Given the description of an element on the screen output the (x, y) to click on. 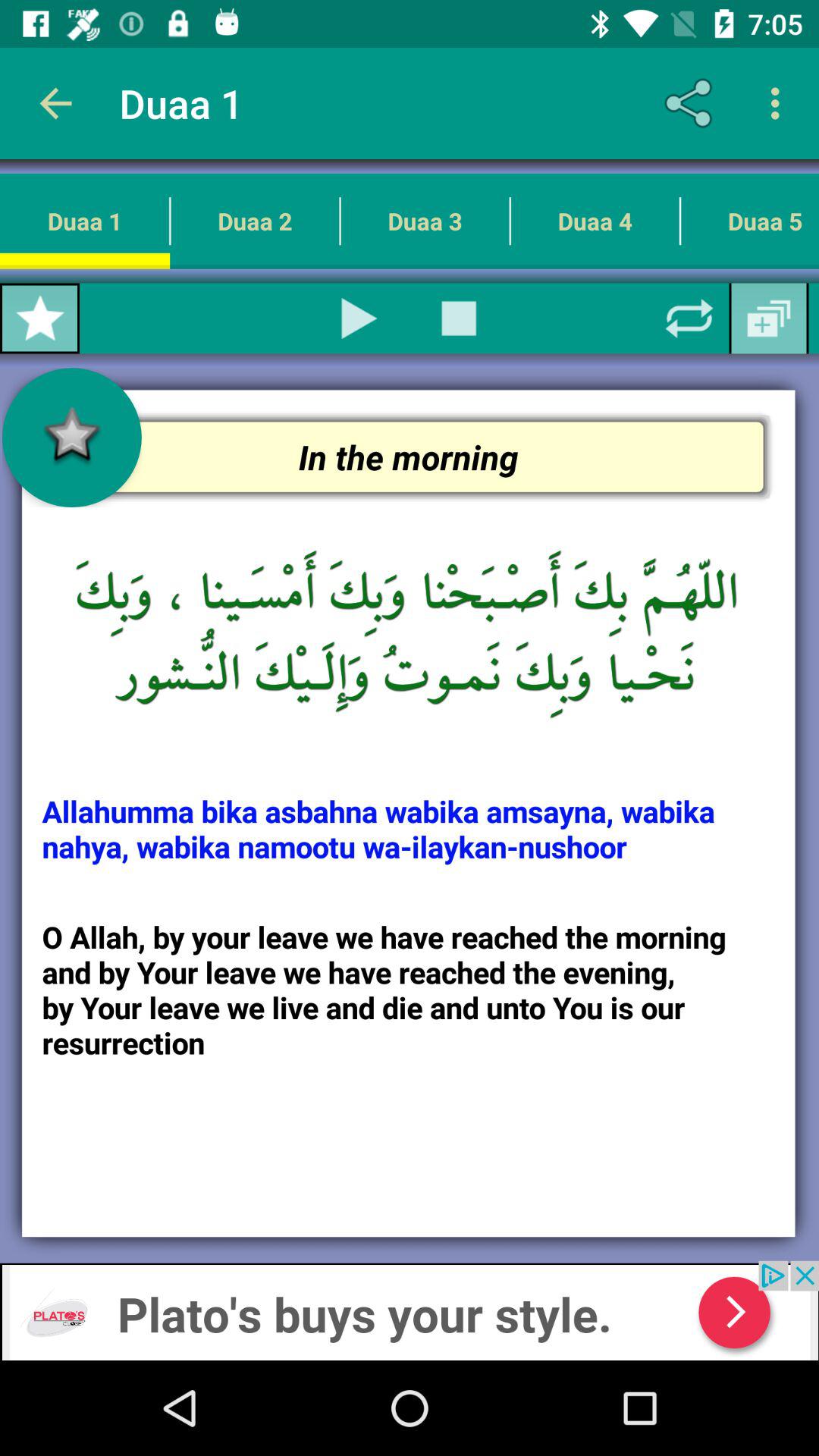
shuffle (689, 318)
